Given the description of an element on the screen output the (x, y) to click on. 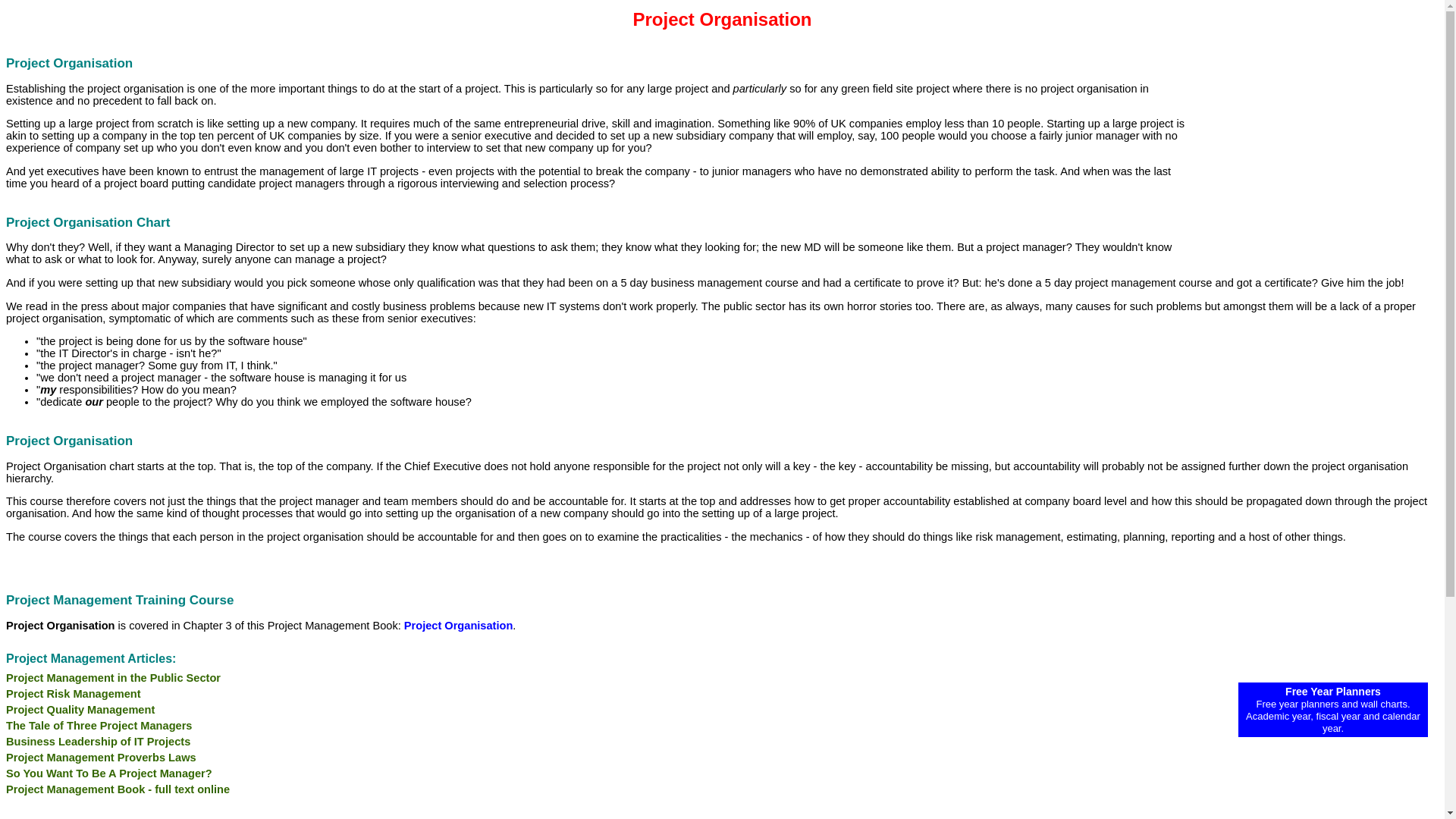
So You Want To Be A Project Manager? (108, 773)
Business Leadership of IT Projects (97, 741)
Project Management Proverbs Laws (100, 757)
Project Management Book - full text online (117, 788)
Project Risk Management (73, 693)
Advertisement (1337, 407)
The Tale of Three Project Managers (98, 725)
Project Organisation (458, 625)
Project Management in the Public Sector (113, 677)
